Given the description of an element on the screen output the (x, y) to click on. 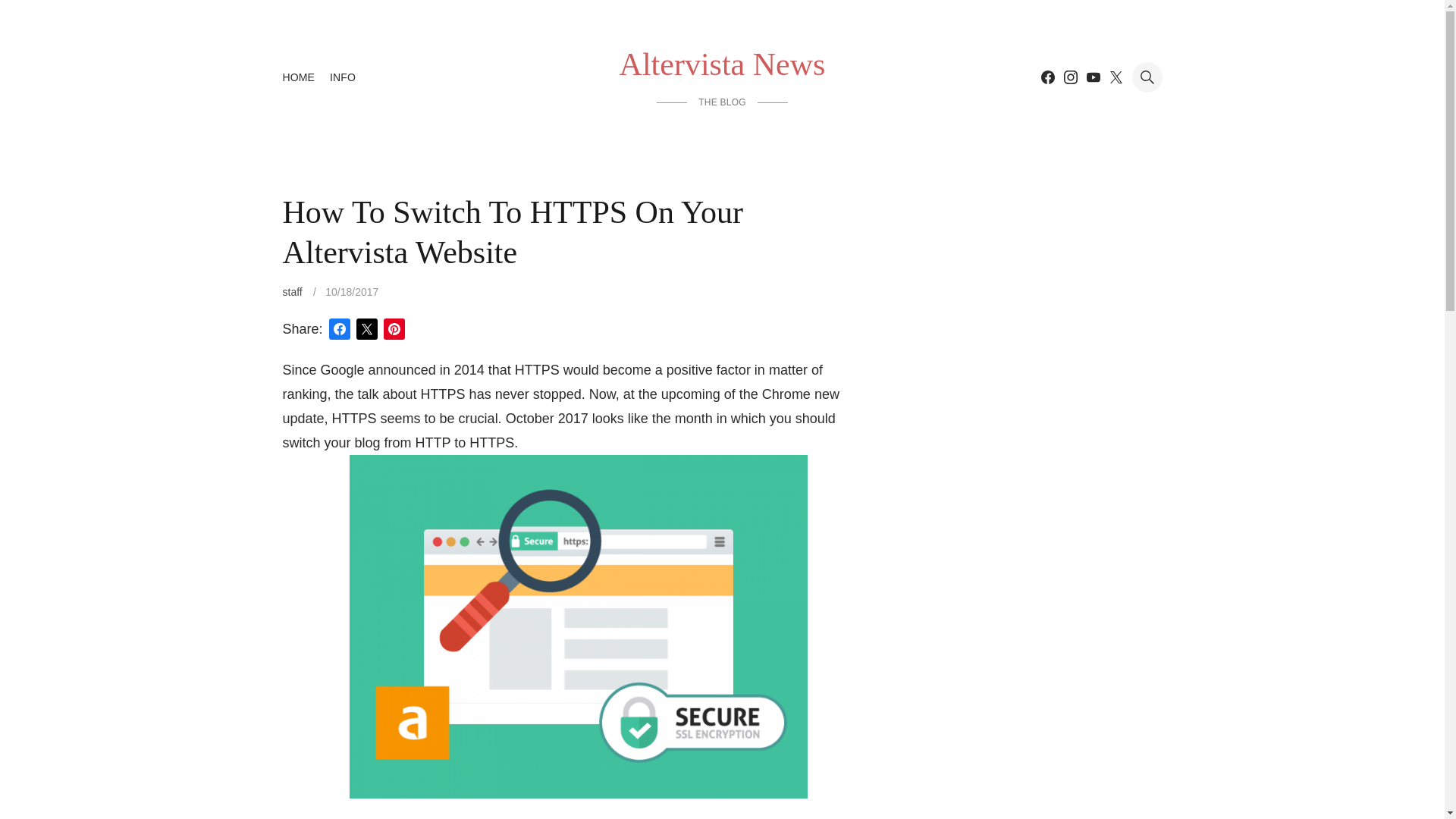
staff (291, 291)
HOME (298, 77)
Instagram (1069, 76)
Twitter (1115, 76)
INFO (342, 77)
Altervista News (722, 64)
Youtube (1092, 76)
Facebook (1046, 76)
